Given the description of an element on the screen output the (x, y) to click on. 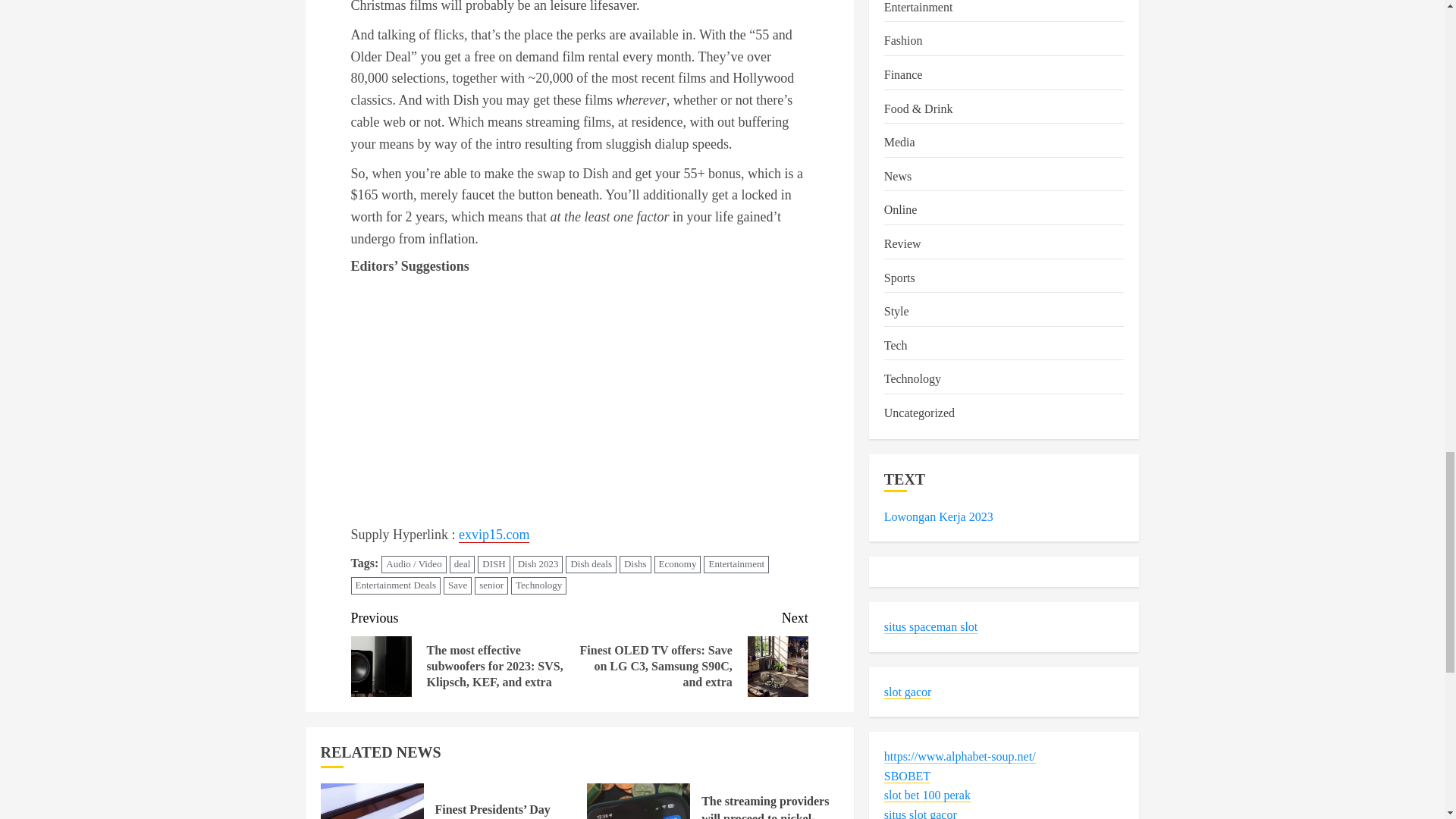
Dish deals (590, 564)
exvip15.com (493, 534)
DISH (493, 564)
Economy (677, 564)
Entertainment (735, 564)
Technology (538, 585)
Dishs (635, 564)
senior (491, 585)
deal (462, 564)
Entertainment Deals (395, 585)
Save (457, 585)
